Given the description of an element on the screen output the (x, y) to click on. 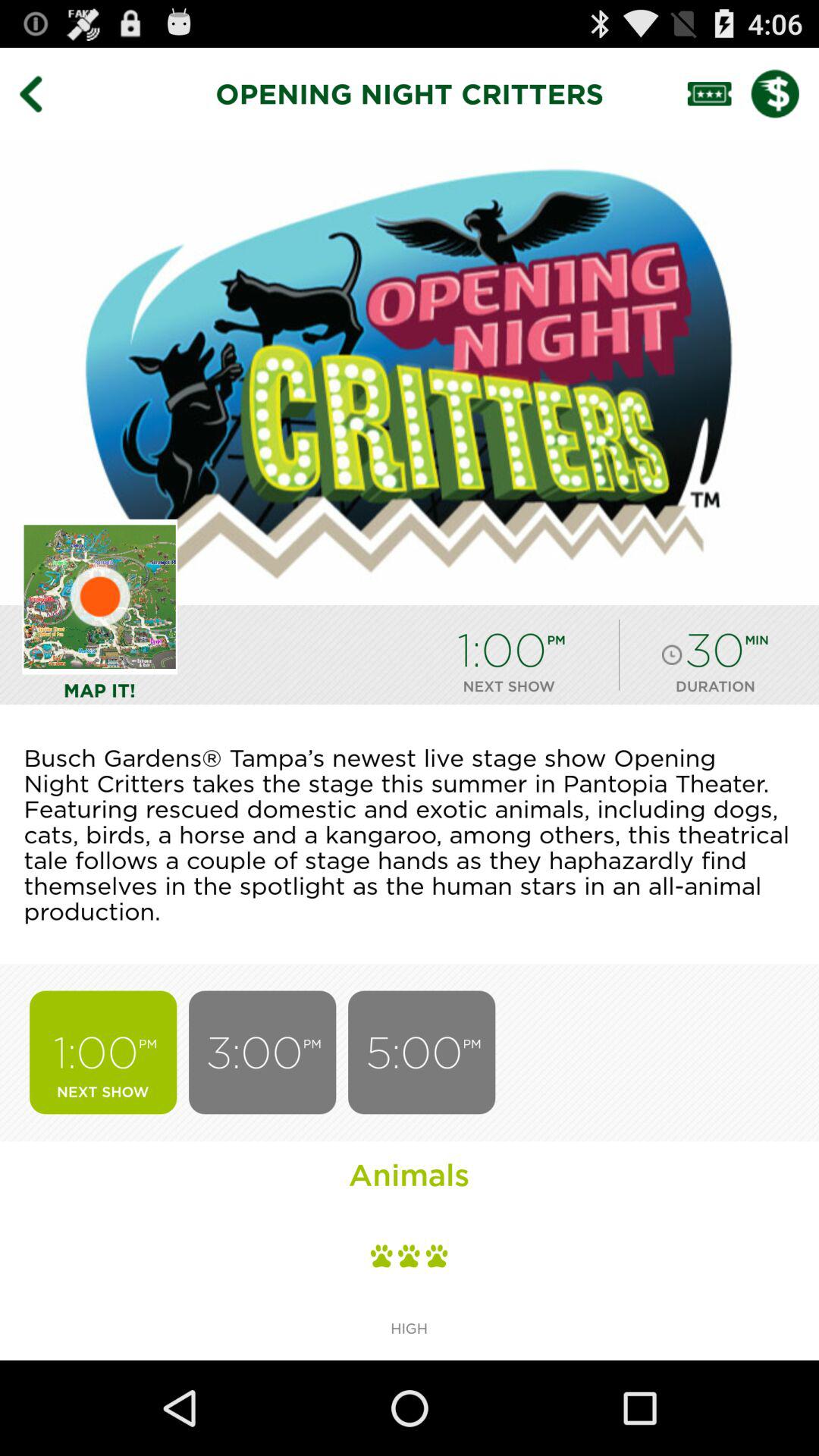
go back (41, 93)
